Given the description of an element on the screen output the (x, y) to click on. 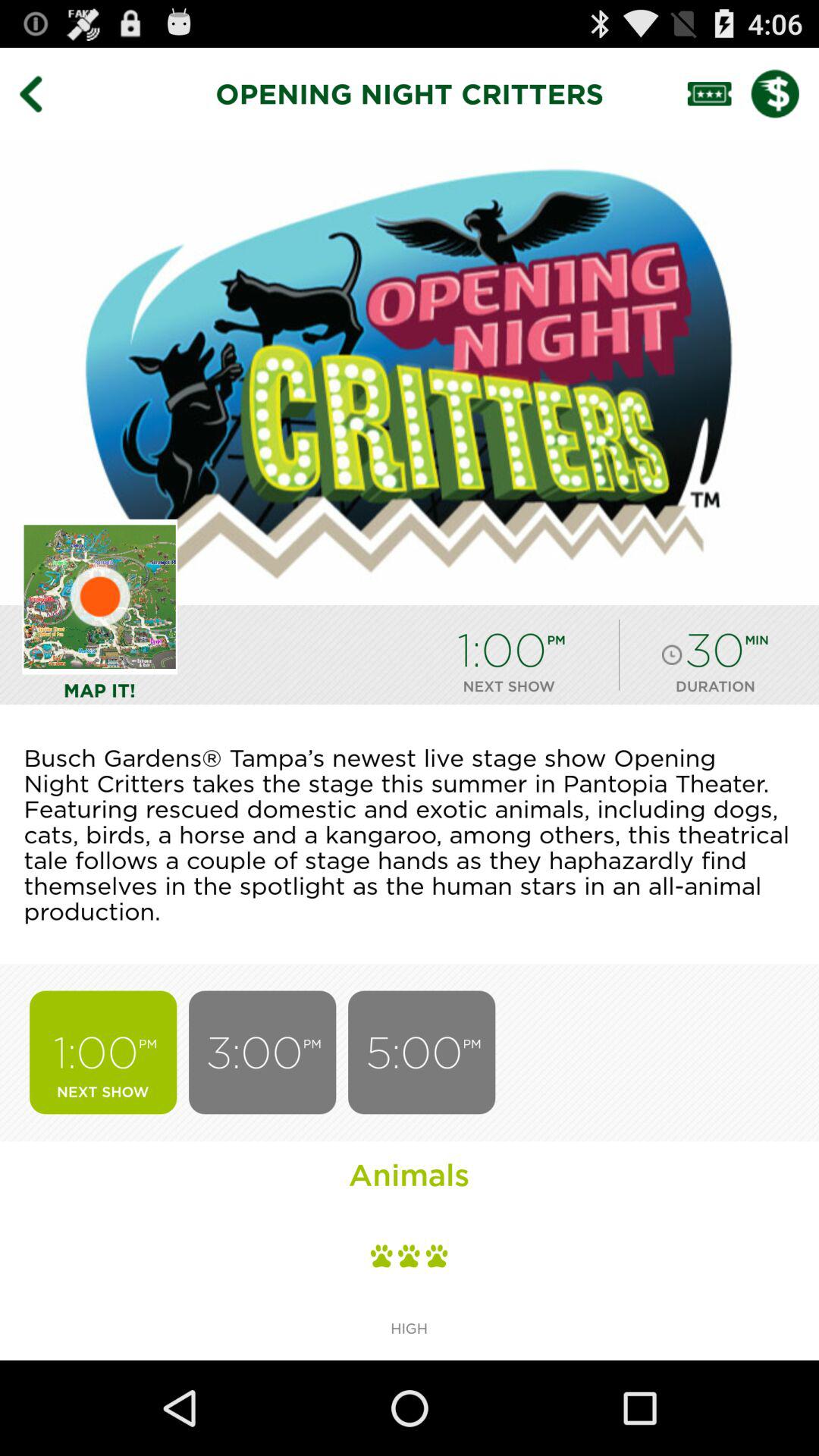
go back (41, 93)
